Given the description of an element on the screen output the (x, y) to click on. 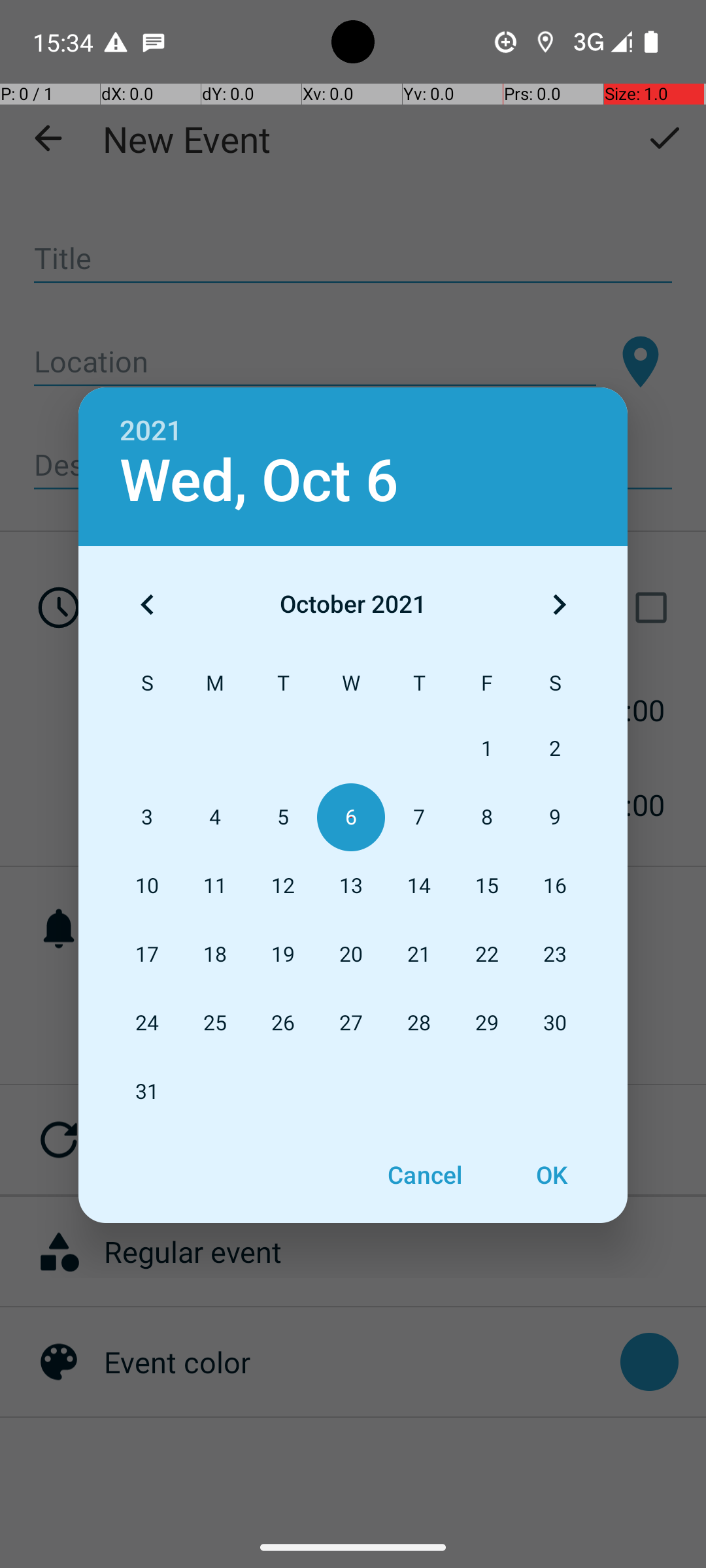
2021 Element type: android.widget.TextView (150, 430)
Wed, Oct 6 Element type: android.widget.TextView (258, 480)
